Given the description of an element on the screen output the (x, y) to click on. 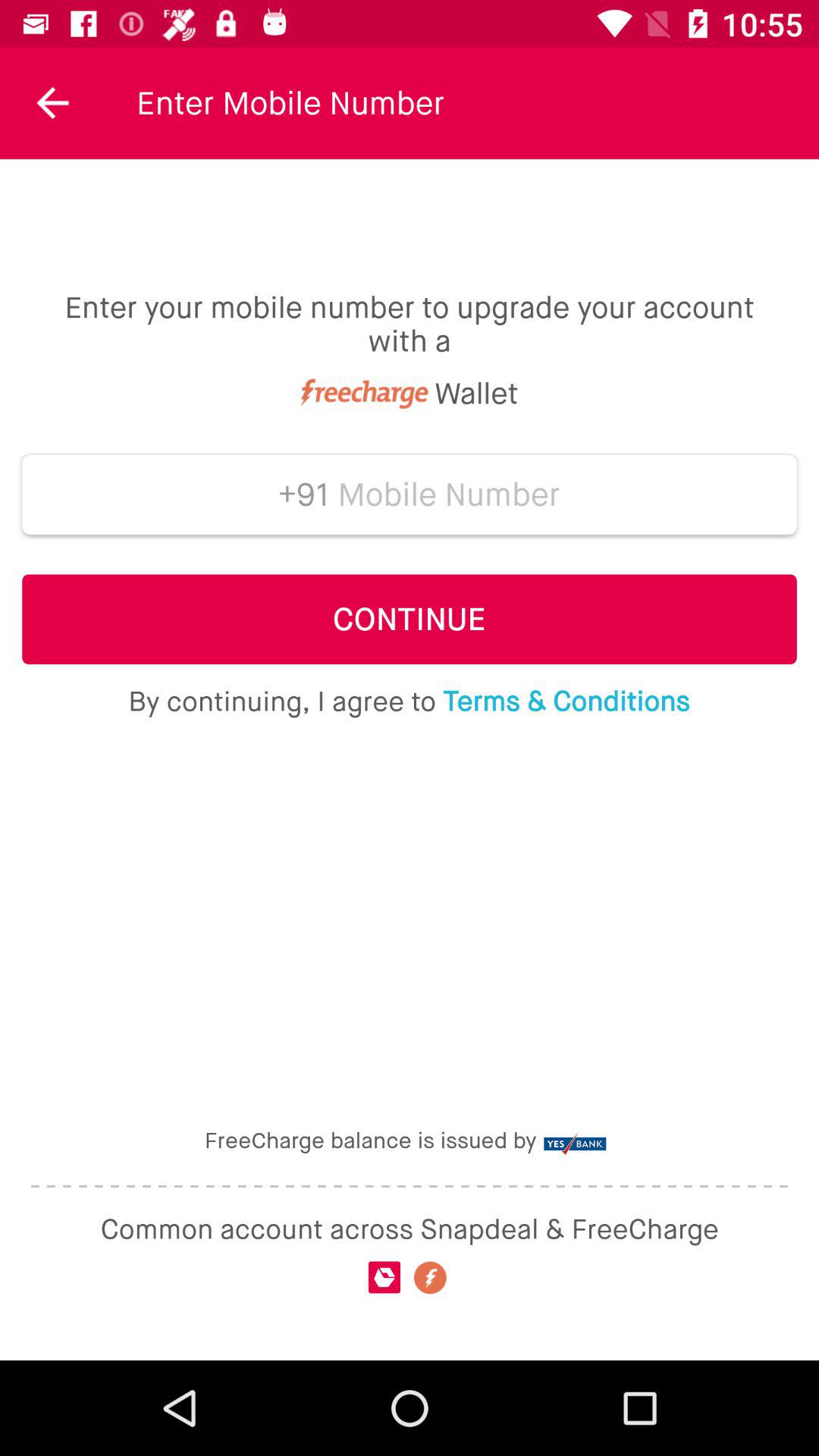
jump to the by continuing i icon (408, 701)
